Given the description of an element on the screen output the (x, y) to click on. 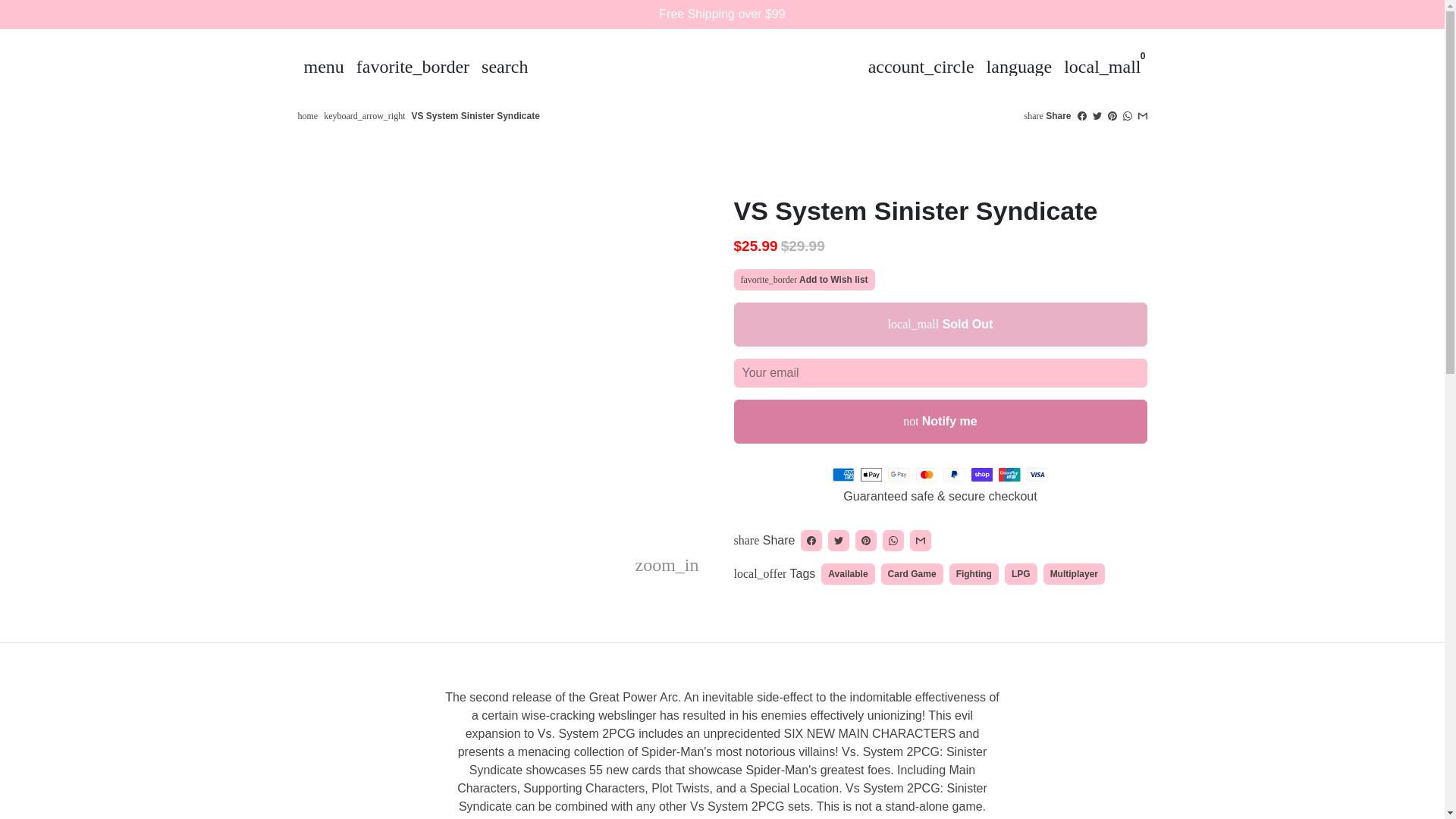
Visa (1037, 474)
Search (505, 66)
American Express (843, 474)
search (505, 66)
PayPal (954, 474)
Menu (323, 66)
Mastercard (926, 474)
Apple Pay (870, 474)
My Wish List (413, 66)
Union Pay (1009, 474)
Little plastic fellas (307, 115)
Log In (920, 66)
Shop Pay (981, 474)
Cart (1102, 66)
